Given the description of an element on the screen output the (x, y) to click on. 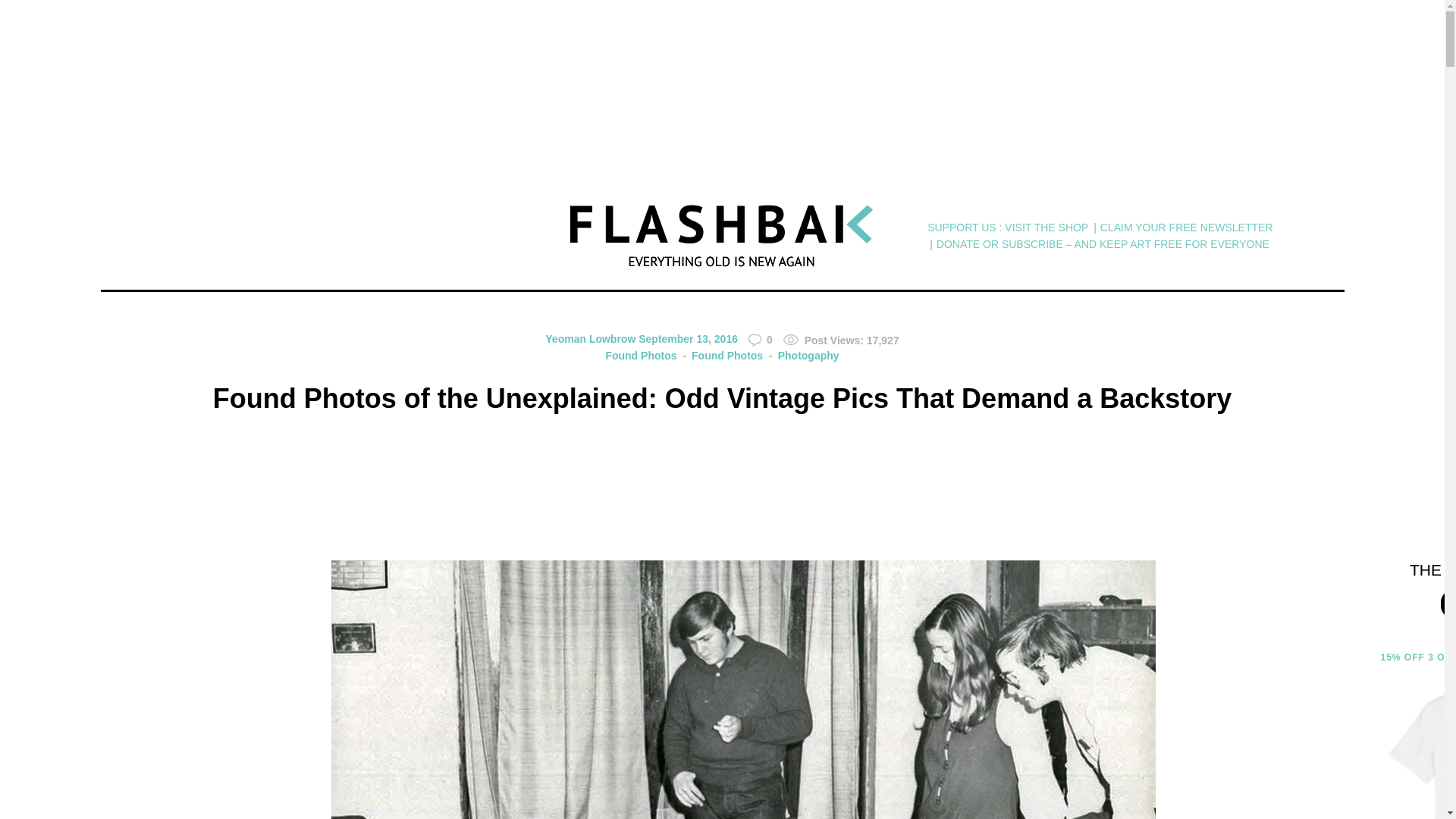
CLAIM YOUR FREE NEWSLETTER (1186, 227)
Flashbak, Everything Old Is New Again (721, 235)
Posts by Yeoman Lowbrow (589, 338)
Yeoman Lowbrow (589, 338)
Found Photos (720, 355)
0 (760, 340)
Found Photos (641, 355)
September 13, 2016 (688, 338)
SUPPORT US : VISIT THE SHOP (1007, 227)
Photogaphy (802, 355)
